Given the description of an element on the screen output the (x, y) to click on. 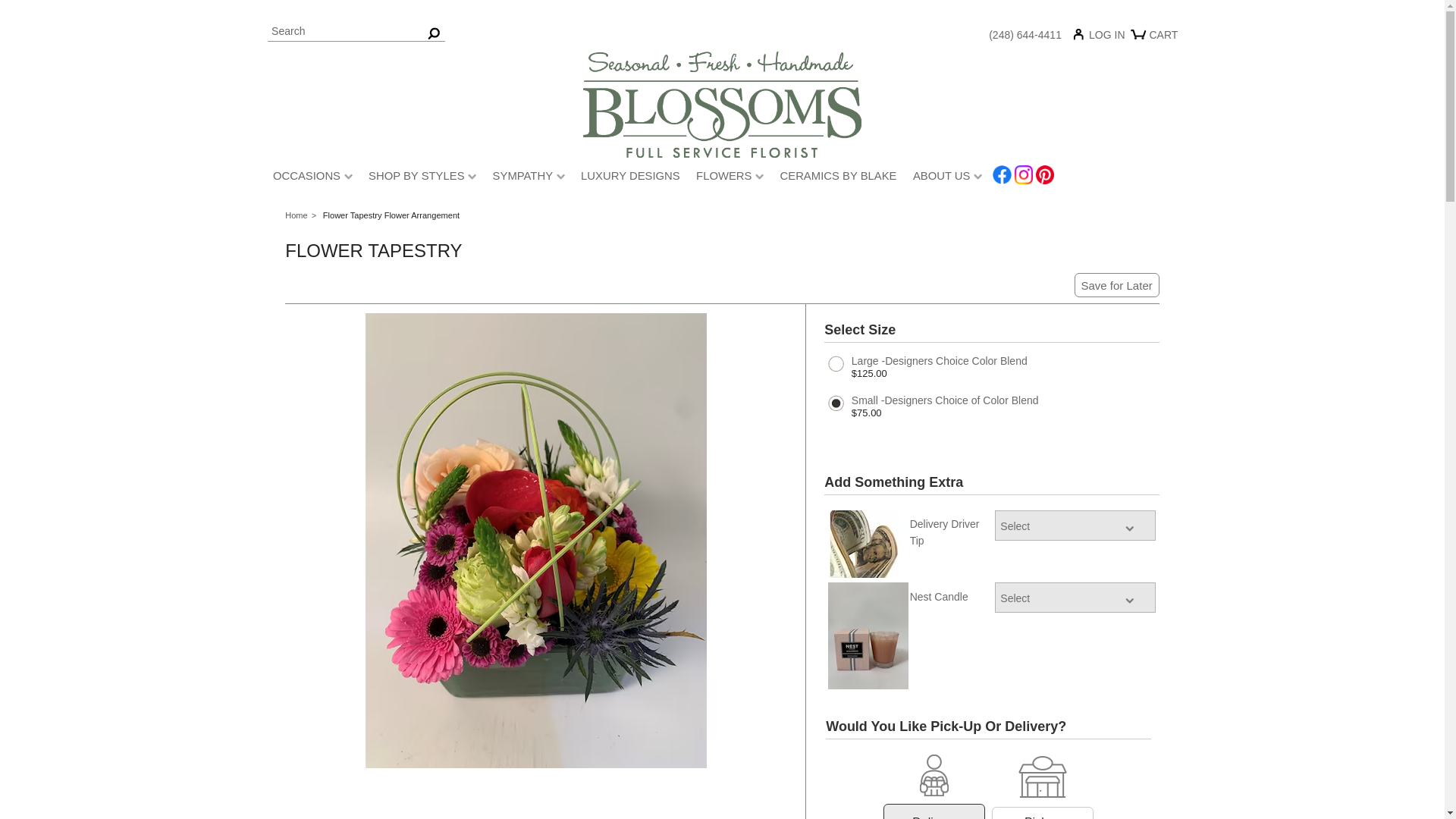
CART (1156, 40)
SHOP BY STYLES (421, 177)
sku5171909 (992, 373)
on (934, 786)
Standard (934, 818)
FLOWERS (730, 177)
Save for Later (1116, 284)
log In (1103, 37)
LUXURY DESIGNS (630, 177)
on (1042, 787)
Go (434, 32)
Standard (1043, 818)
sku12510111 (992, 413)
Search (355, 31)
OCCASIONS (312, 177)
